Given the description of an element on the screen output the (x, y) to click on. 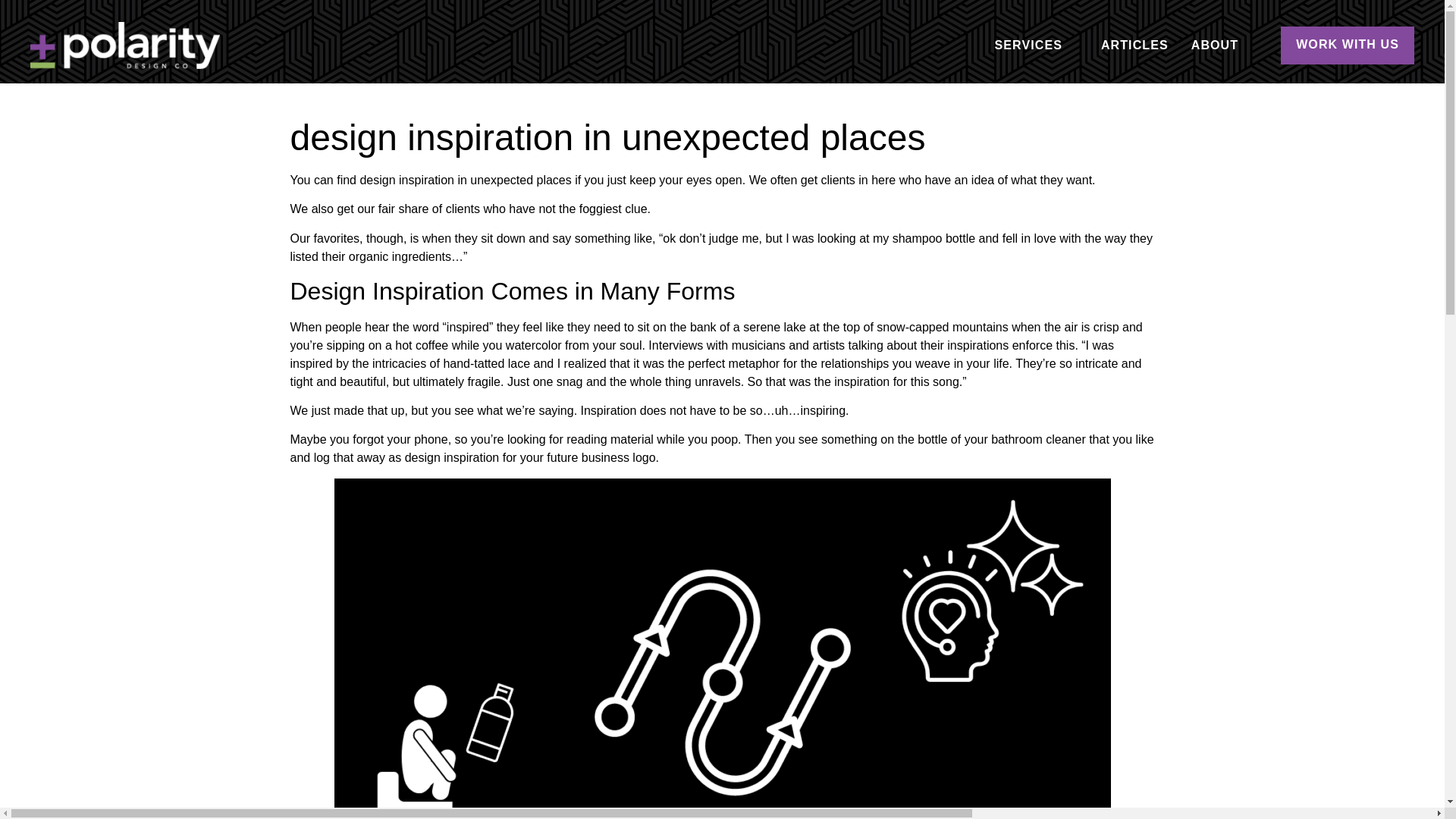
WORK WITH US (1347, 45)
ARTICLES (1134, 45)
